Given the description of an element on the screen output the (x, y) to click on. 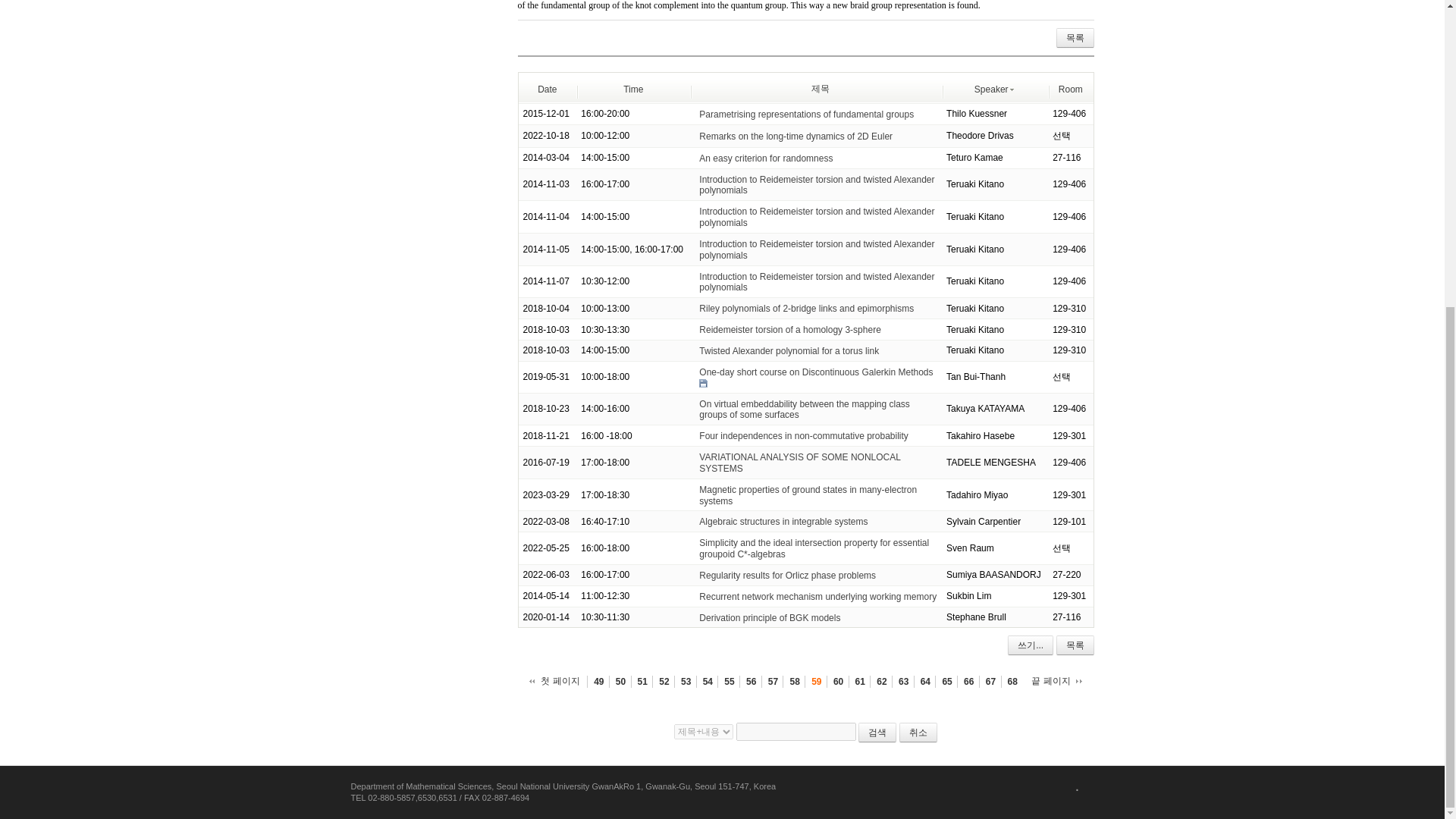
Remarks on the long-time dynamics of 2D Euler (795, 136)
Room (1070, 88)
Parametrising representations of fundamental groups (806, 113)
An easy criterion for randomness (765, 158)
file (702, 383)
Speaker (994, 88)
Date (546, 88)
Time (633, 88)
